Given the description of an element on the screen output the (x, y) to click on. 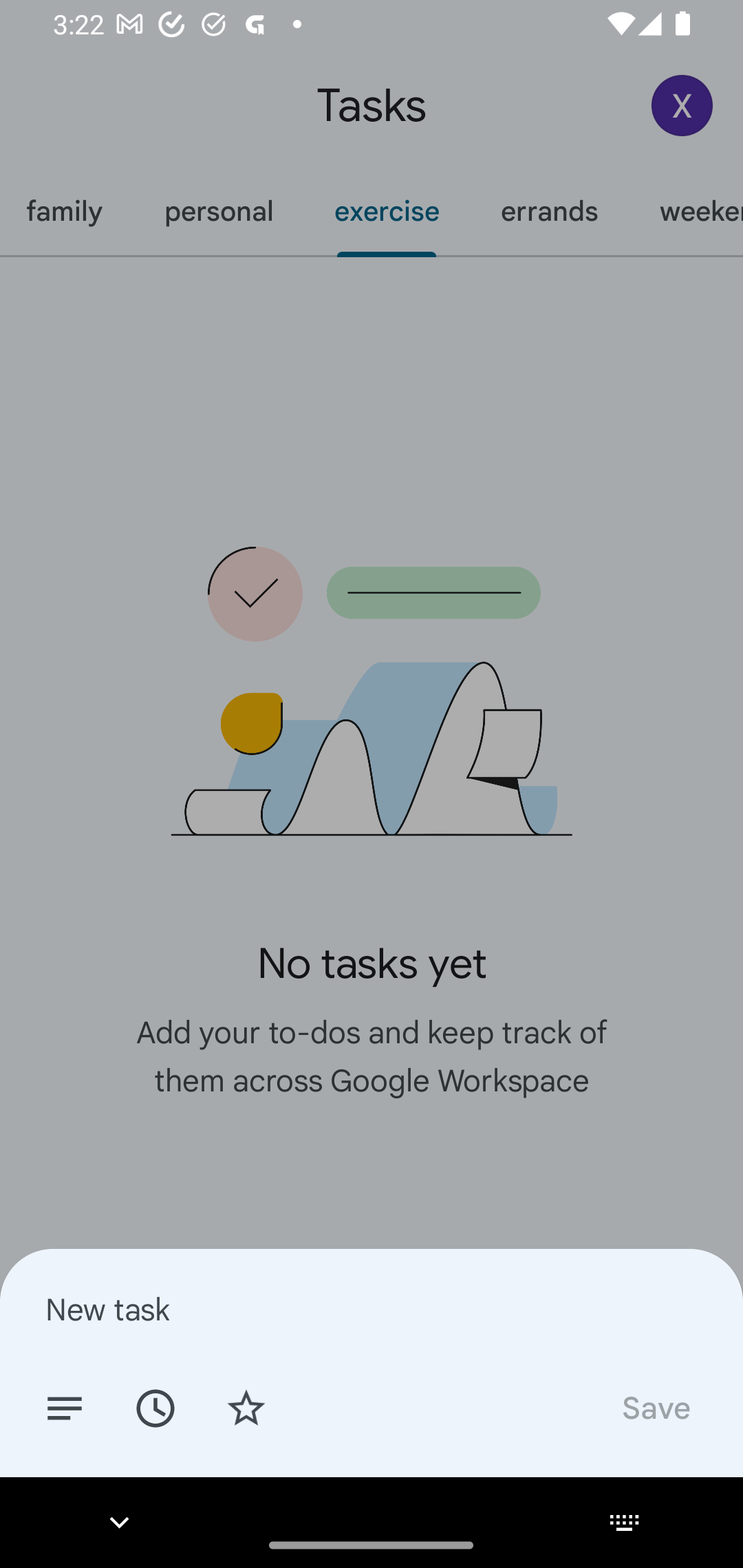
New task (371, 1308)
Save (655, 1407)
Add details (64, 1407)
Set date/time (154, 1407)
Add star (245, 1407)
